Given the description of an element on the screen output the (x, y) to click on. 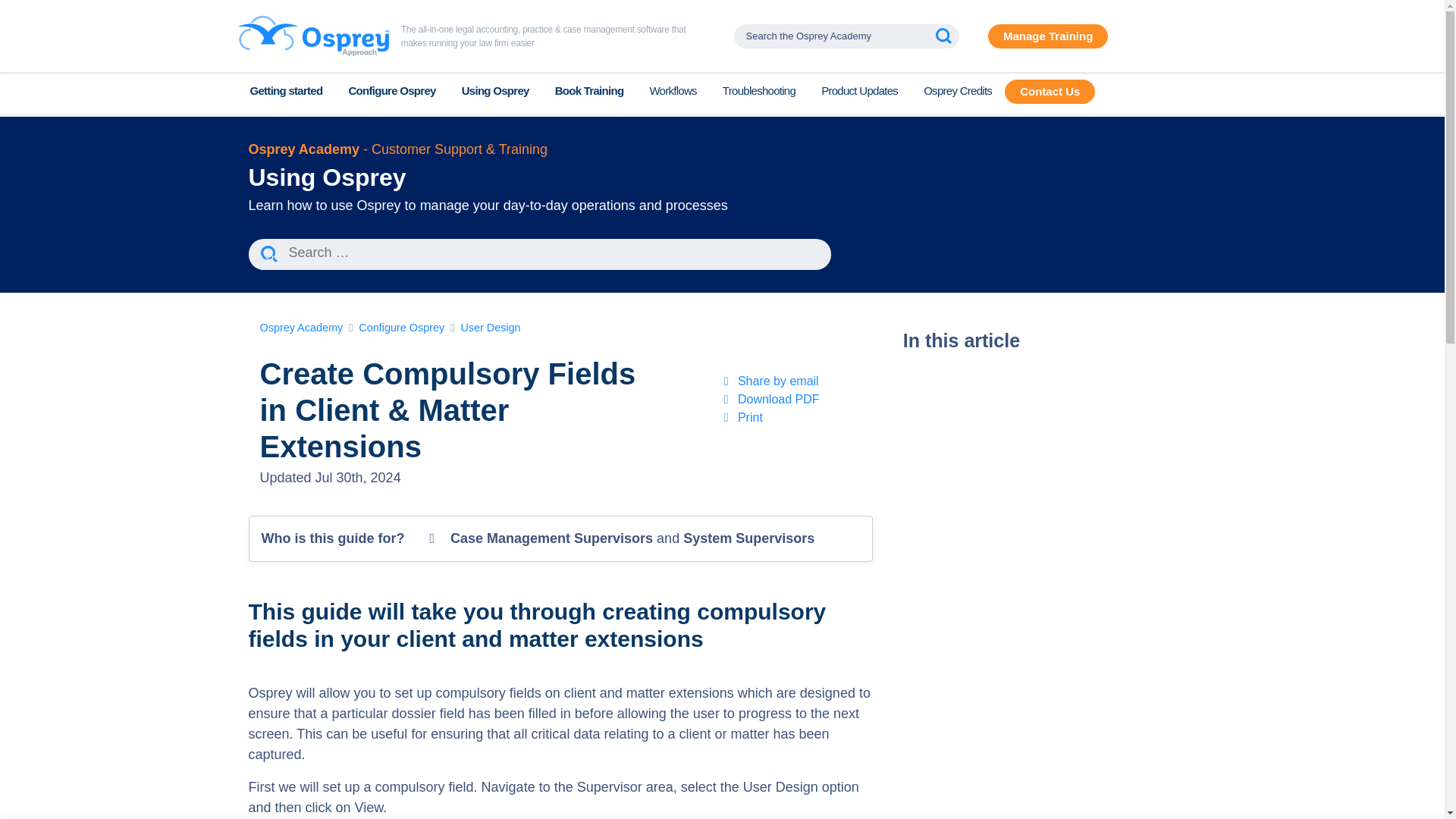
Workflows (672, 90)
Search (273, 255)
Search (273, 255)
Getting started (284, 90)
Using Osprey (494, 90)
Configure Osprey (391, 90)
Manage Training (1048, 36)
Book Training (589, 90)
